Given the description of an element on the screen output the (x, y) to click on. 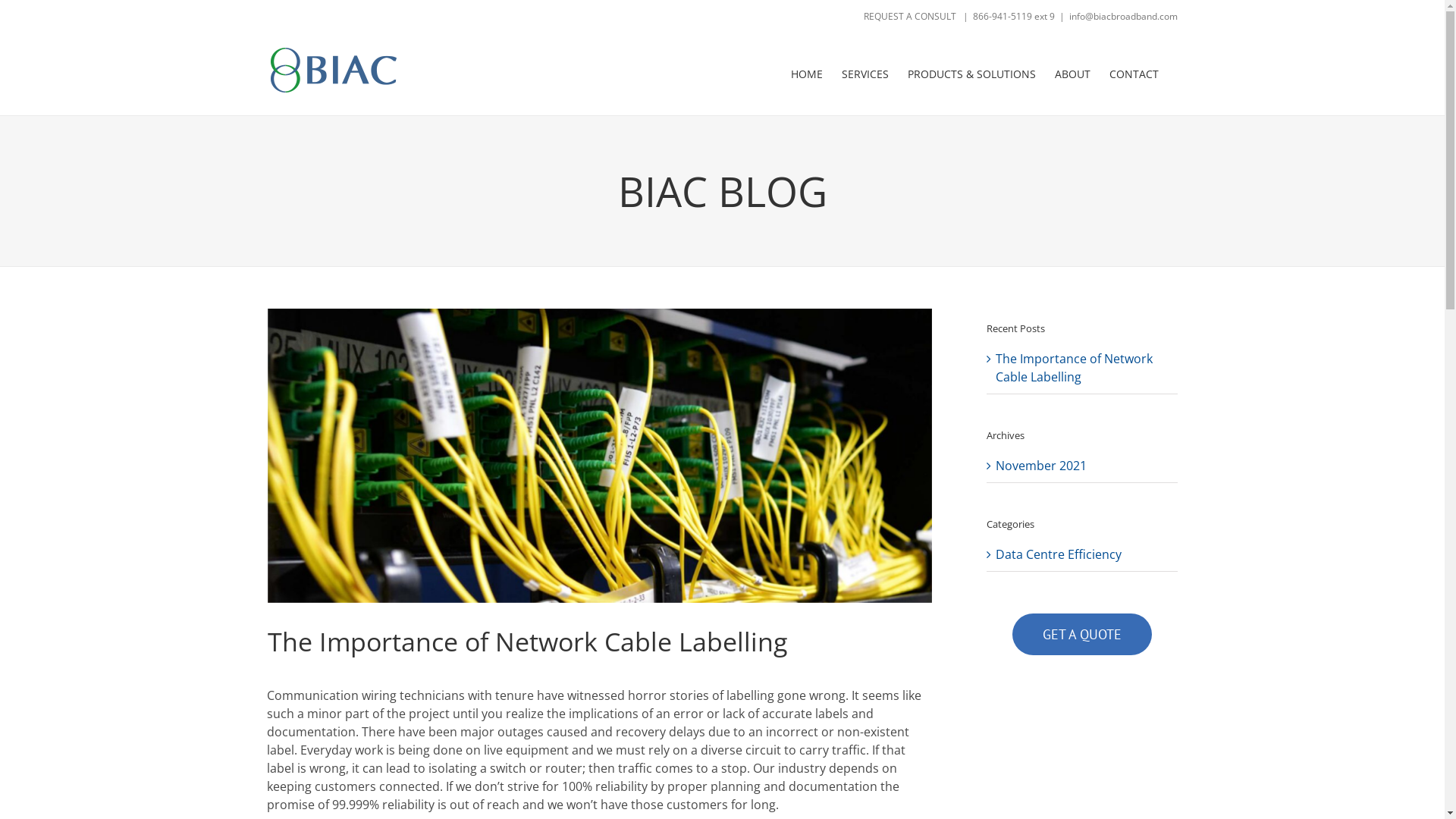
REQUEST A CONSULT Element type: text (909, 15)
SERVICES Element type: text (864, 74)
HOME Element type: text (806, 74)
CONTACT Element type: text (1132, 74)
PRODUCTS & SOLUTIONS Element type: text (970, 74)
The Importance of Network Cable Labelling Element type: text (1072, 367)
View Larger Image Element type: text (598, 455)
GET A QUOTE Element type: text (1081, 634)
info@biacbroadband.com Element type: text (1123, 15)
Data Centre Efficiency Element type: text (1081, 554)
ABOUT Element type: text (1071, 74)
November 2021 Element type: text (1039, 465)
